Given the description of an element on the screen output the (x, y) to click on. 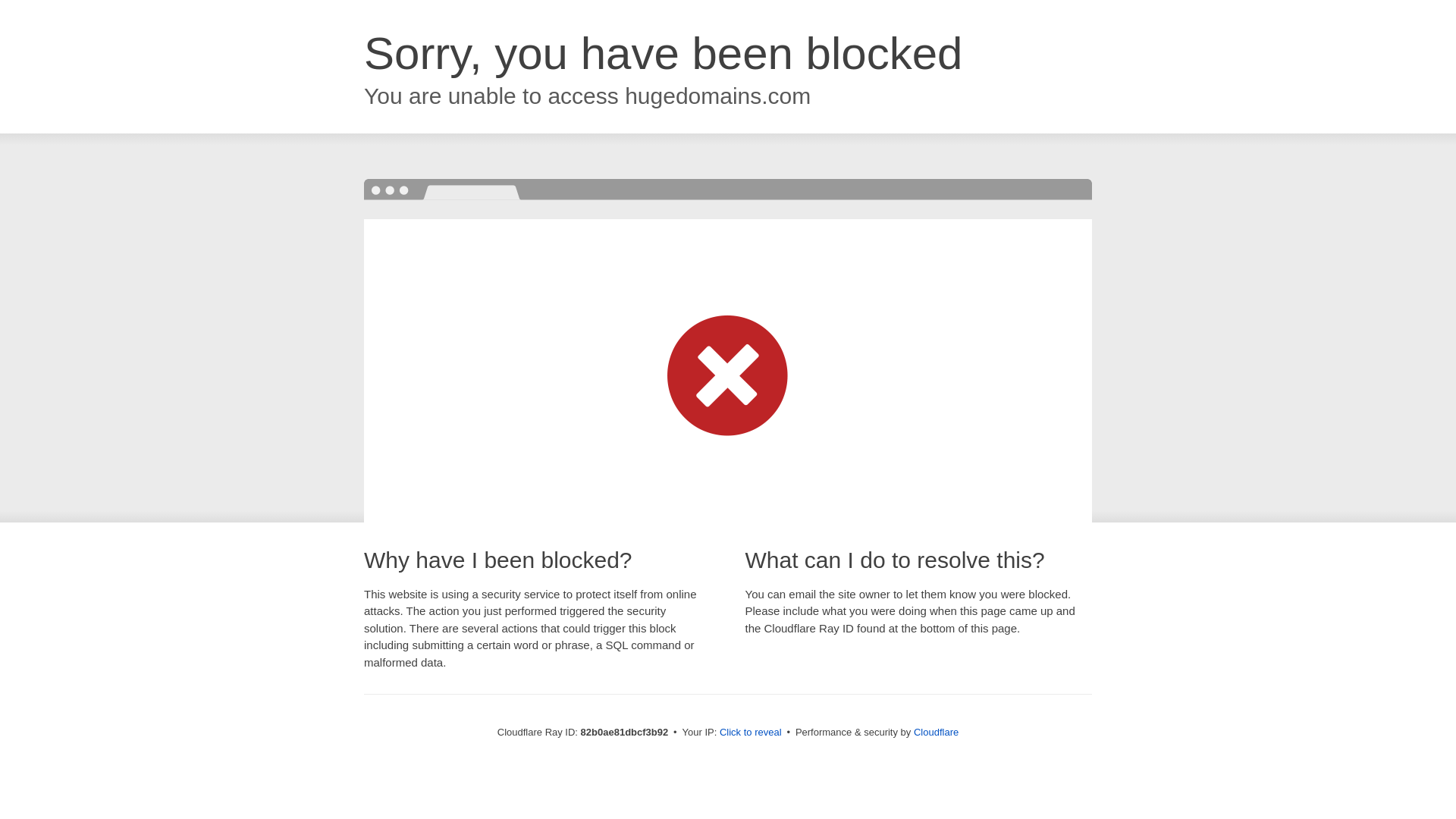
Cloudflare Element type: text (935, 731)
Click to reveal Element type: text (750, 732)
